Given the description of an element on the screen output the (x, y) to click on. 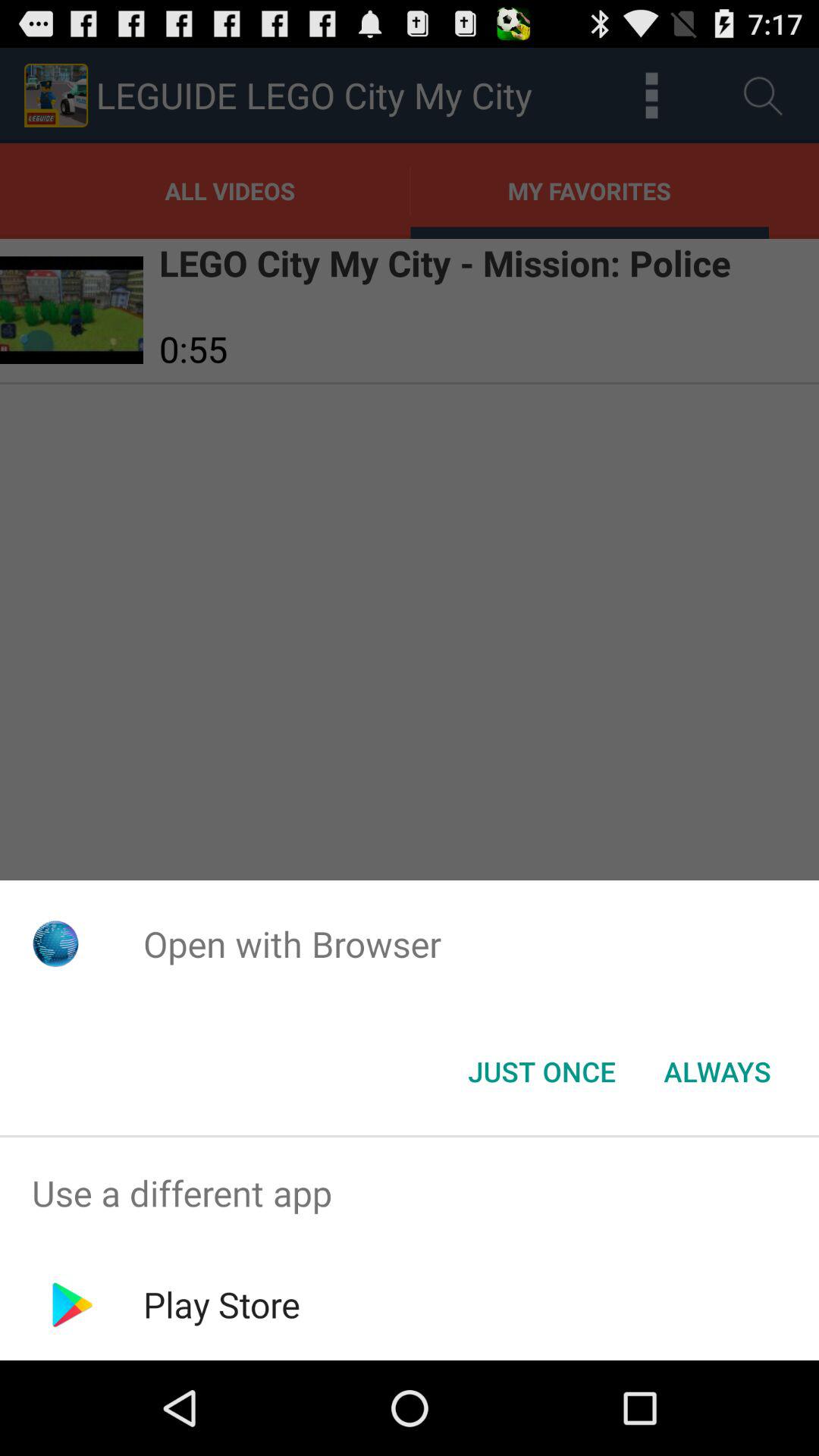
flip until the use a different item (409, 1192)
